Given the description of an element on the screen output the (x, y) to click on. 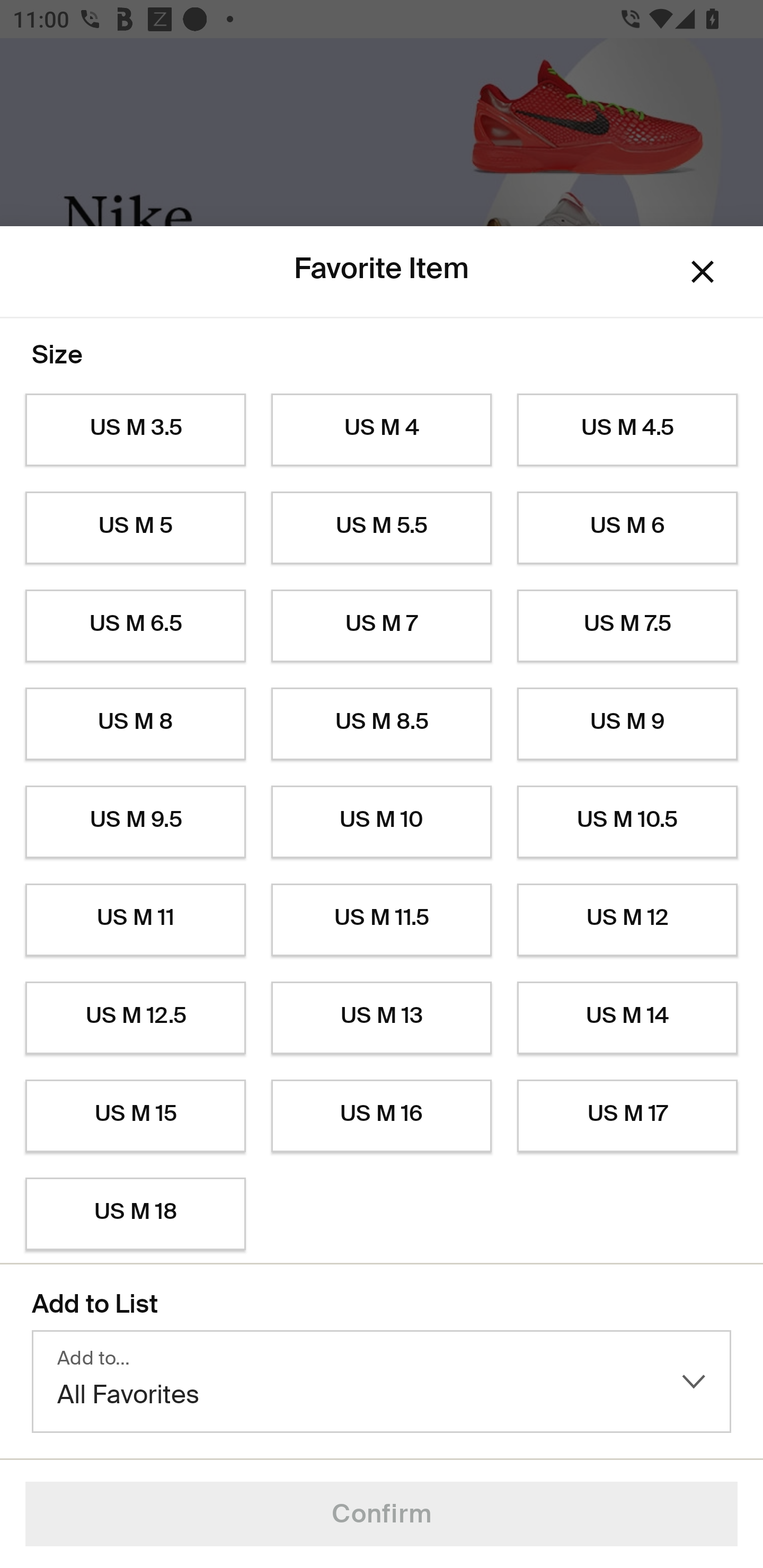
Dismiss (702, 271)
US M 3.5 (135, 430)
US M 4 (381, 430)
US M 4.5 (627, 430)
US M 5 (135, 527)
US M 5.5 (381, 527)
US M 6 (627, 527)
US M 6.5 (135, 626)
US M 7 (381, 626)
US M 7.5 (627, 626)
US M 8 (135, 724)
US M 8.5 (381, 724)
US M 9 (627, 724)
US M 9.5 (135, 822)
US M 10 (381, 822)
US M 10.5 (627, 822)
US M 11 (135, 919)
US M 11.5 (381, 919)
US M 12 (627, 919)
US M 12.5 (135, 1018)
US M 13 (381, 1018)
US M 14 (627, 1018)
US M 15 (135, 1116)
US M 16 (381, 1116)
US M 17 (627, 1116)
US M 18 (135, 1214)
Add to… All Favorites (381, 1381)
Confirm (381, 1513)
